Given the description of an element on the screen output the (x, y) to click on. 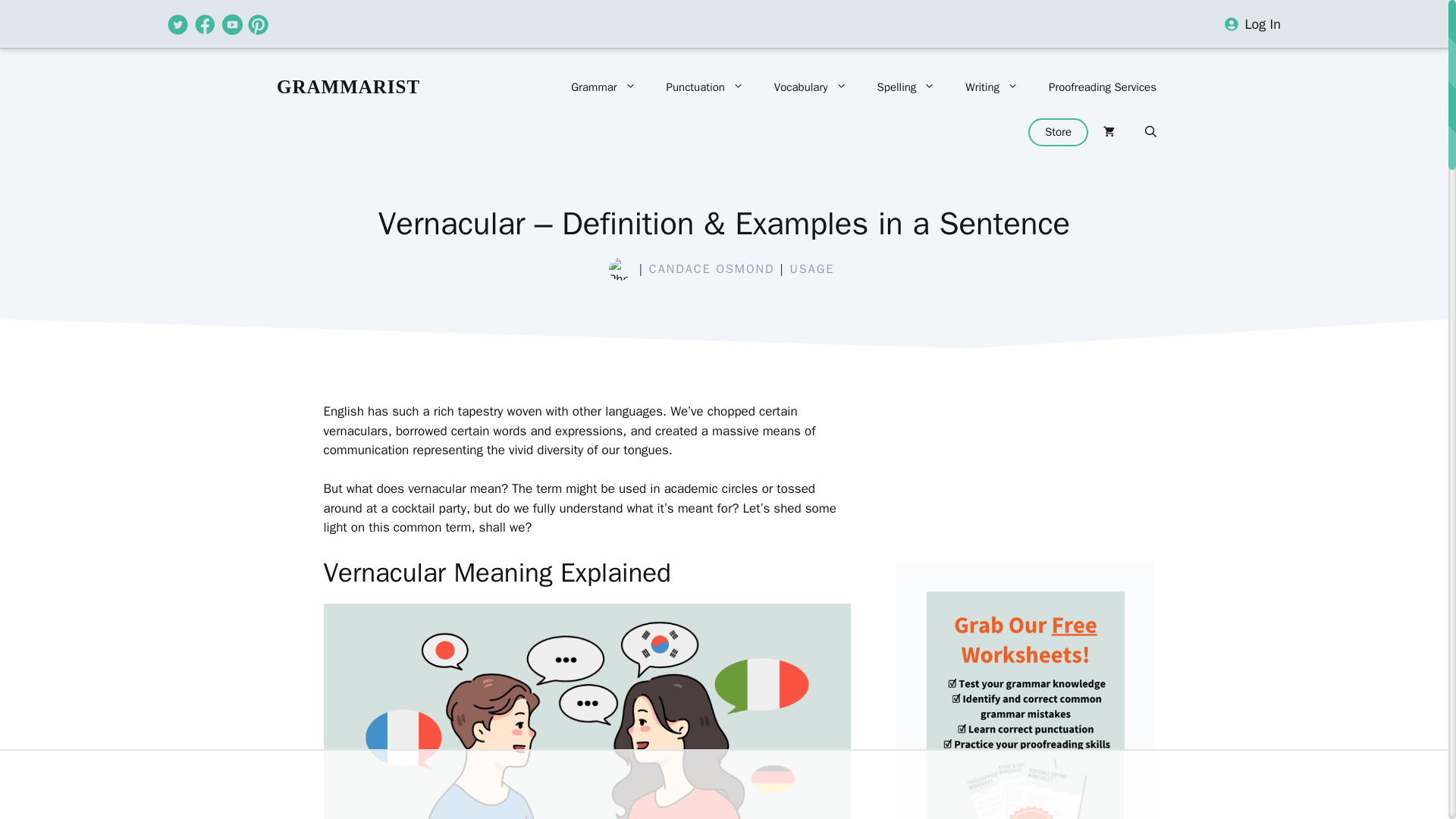
Log In (1262, 23)
View your shopping cart (1108, 132)
Vocabulary (809, 86)
Grammar (603, 86)
GRAMMARIST (348, 86)
Punctuation (704, 86)
